Given the description of an element on the screen output the (x, y) to click on. 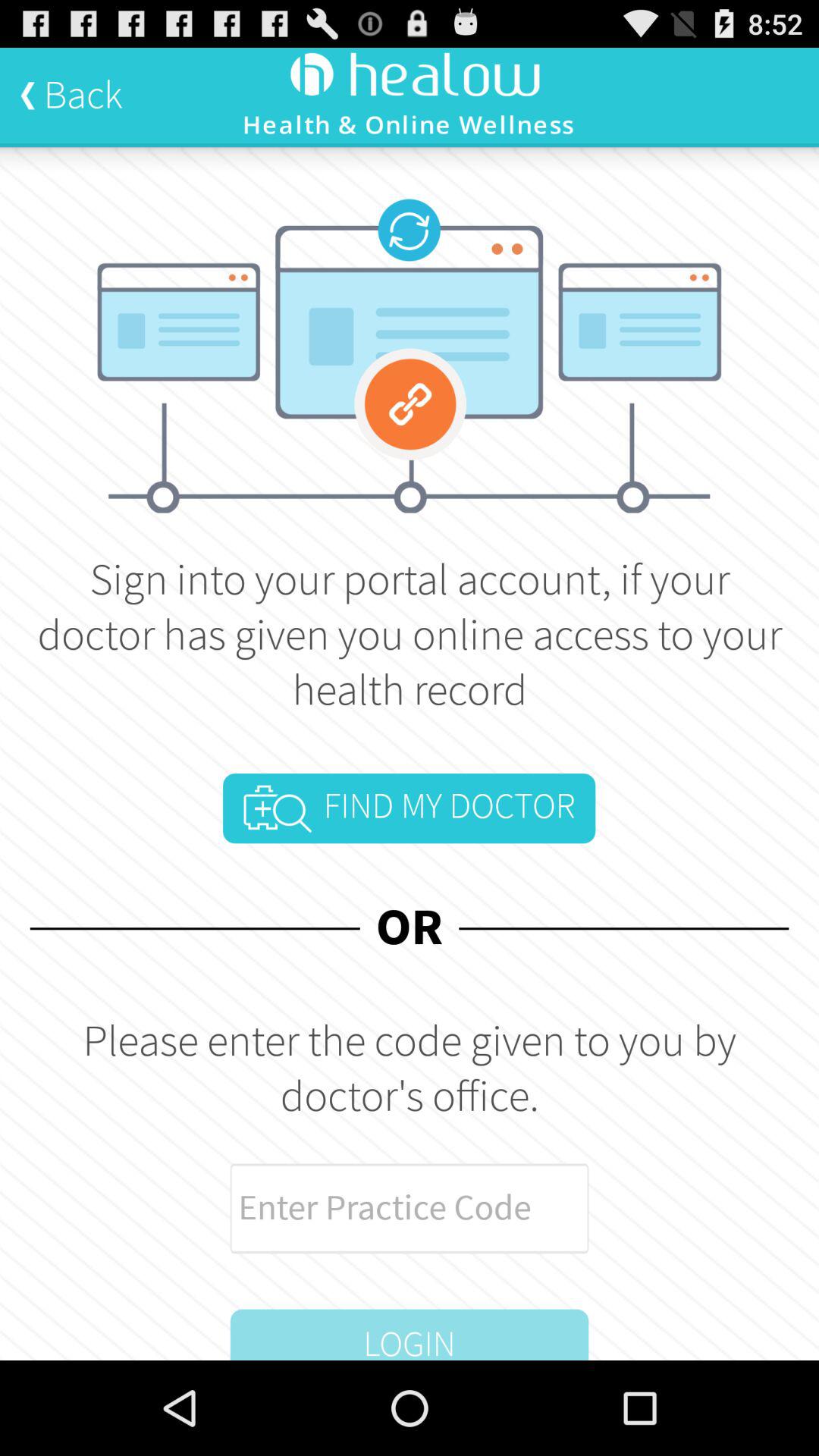
turn on the item below the sign into your (408, 808)
